Given the description of an element on the screen output the (x, y) to click on. 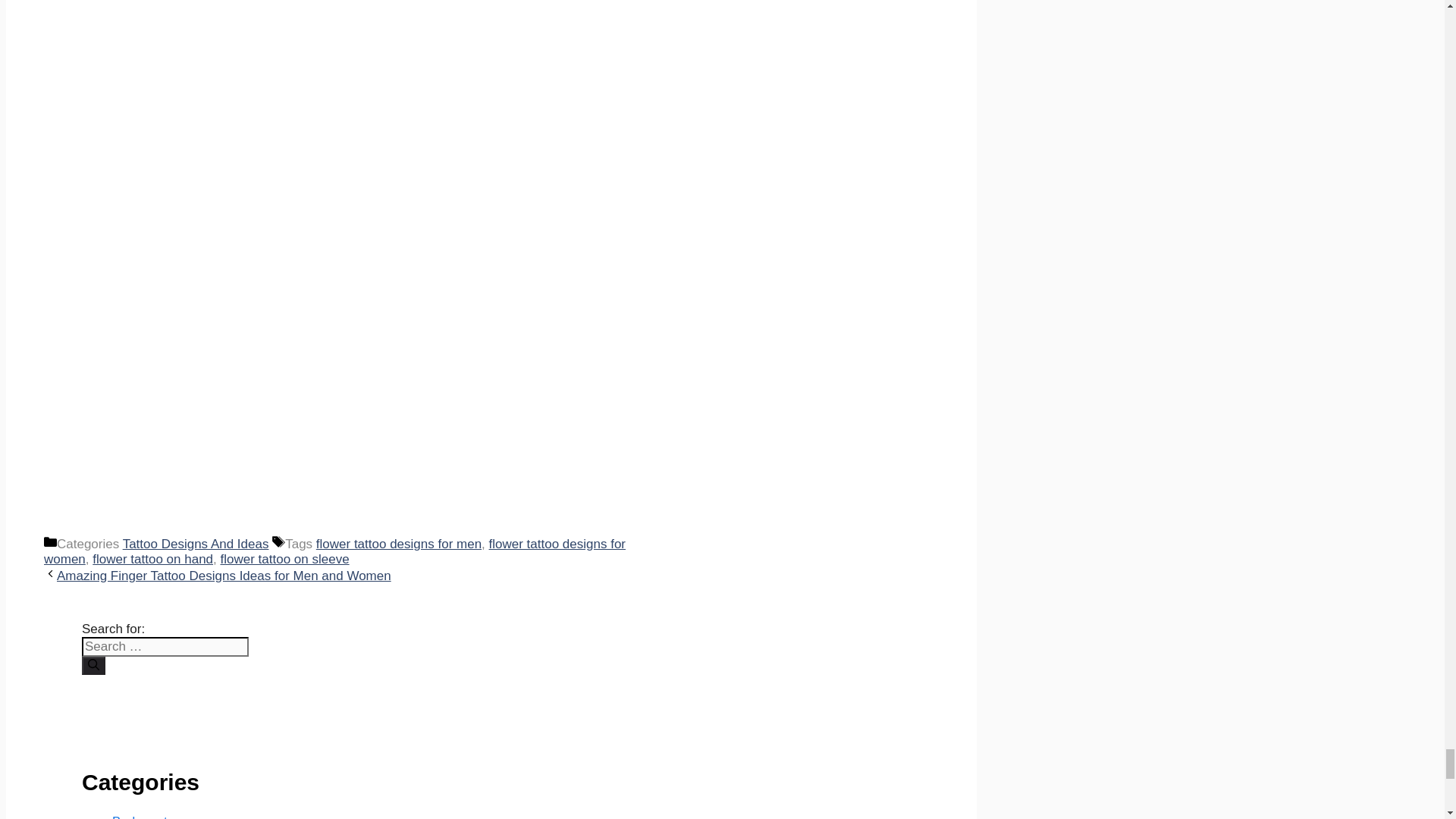
flower tattoo designs for men (398, 544)
flower tattoo on hand (152, 559)
Tattoo Designs And Ideas (195, 544)
Body parts (142, 816)
Search for: (164, 646)
flower tattoo on sleeve (284, 559)
Amazing Finger Tattoo Designs Ideas for Men and Women (223, 575)
flower tattoo designs for women (334, 551)
